Given the description of an element on the screen output the (x, y) to click on. 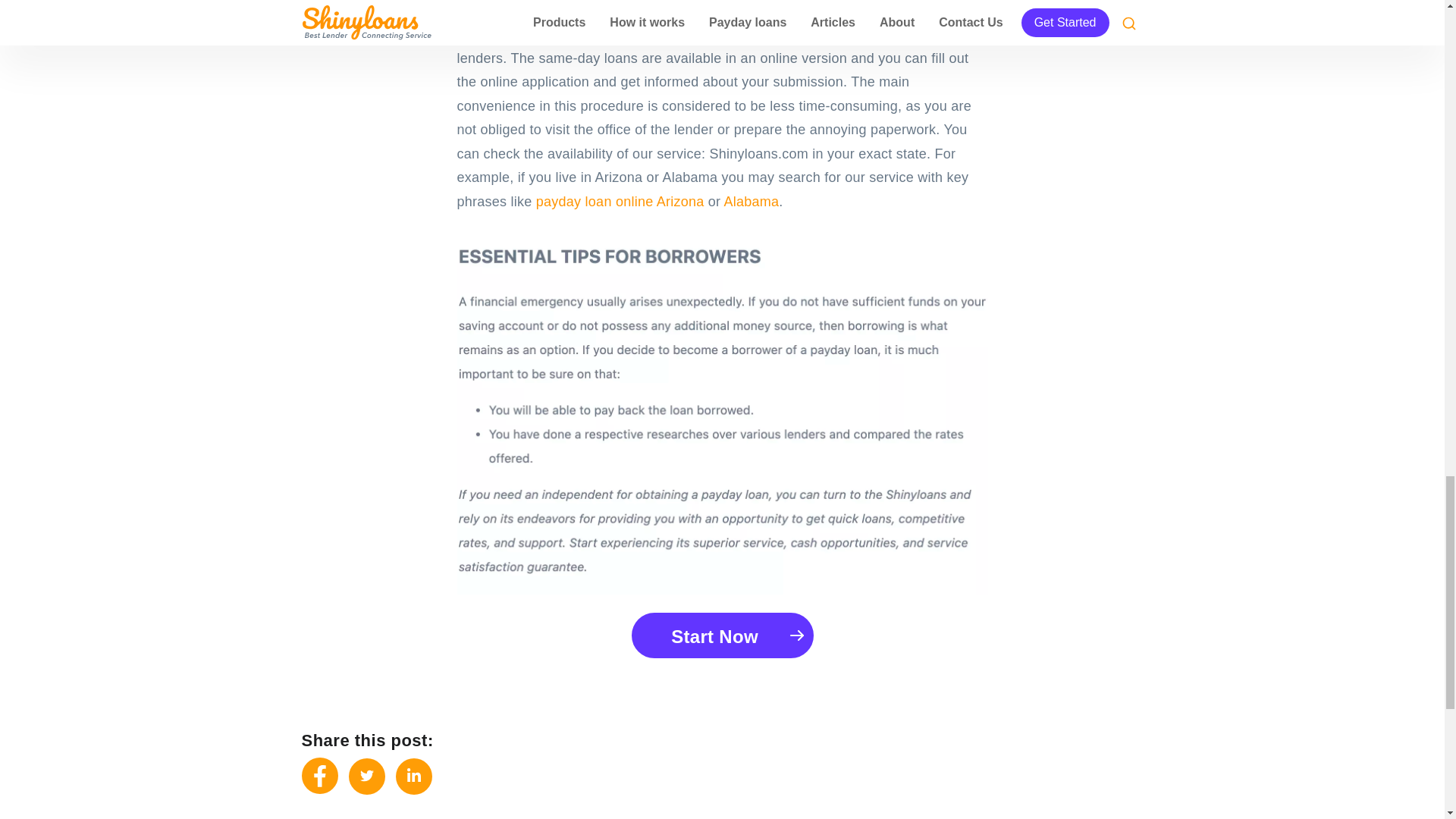
Start Now (721, 635)
Alabama (750, 201)
online payday loans (787, 33)
payday loan online Arizona (619, 201)
